Given the description of an element on the screen output the (x, y) to click on. 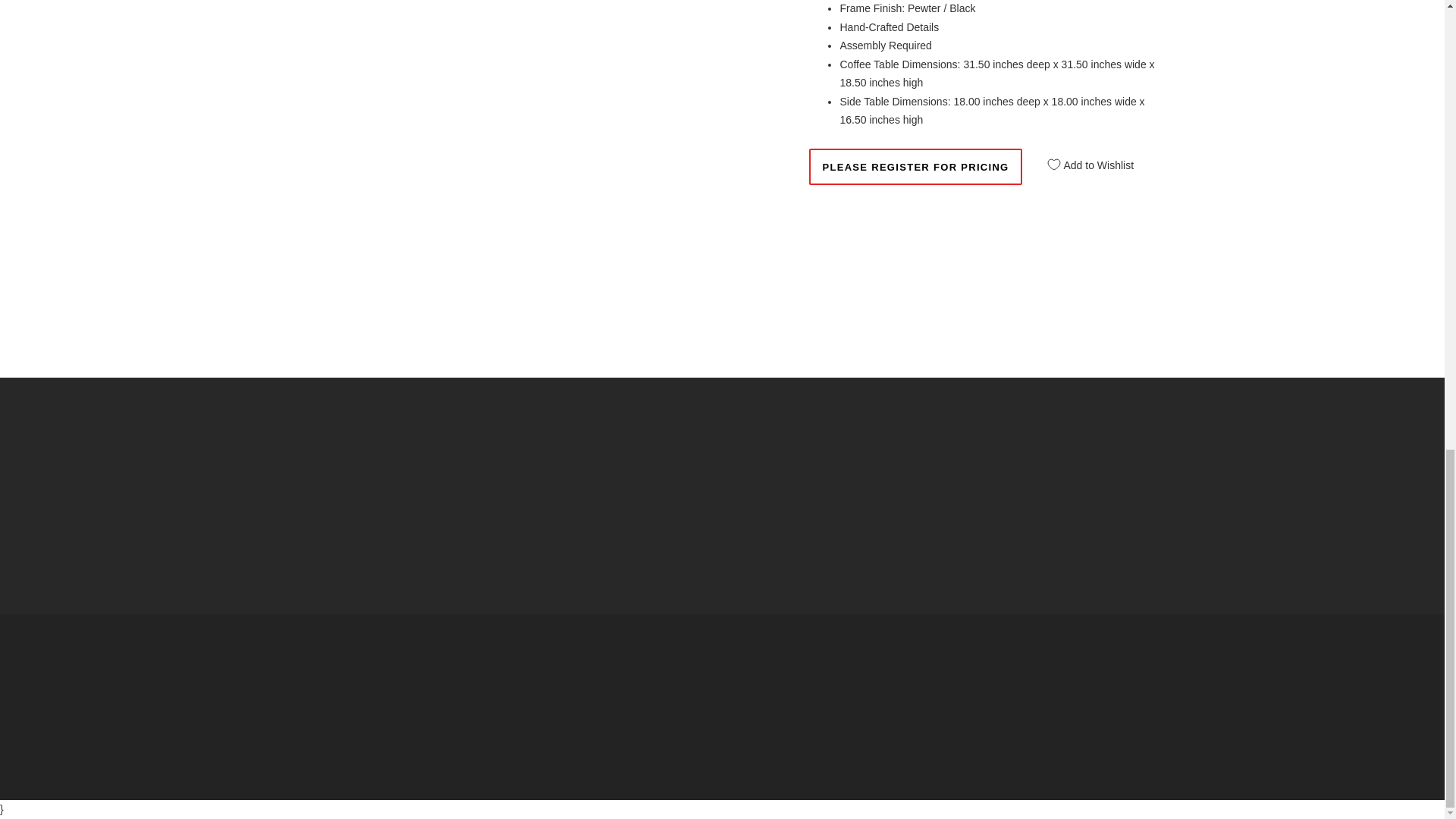
Add to Wishlist (1085, 159)
